Given the description of an element on the screen output the (x, y) to click on. 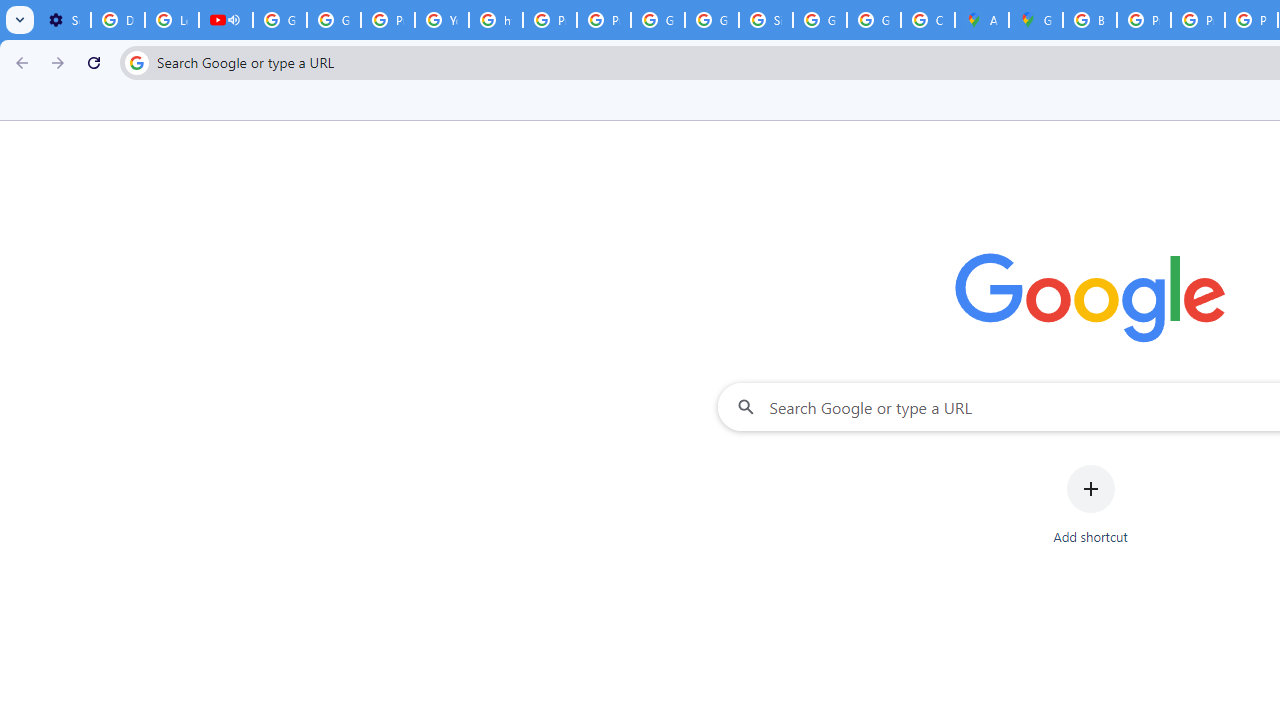
Privacy Help Center - Policies Help (387, 20)
Delete photos & videos - Computer - Google Photos Help (117, 20)
Add shortcut (1090, 504)
Mute tab (233, 20)
YouTube (441, 20)
https://scholar.google.com/ (495, 20)
Privacy Help Center - Policies Help (1197, 20)
